Given the description of an element on the screen output the (x, y) to click on. 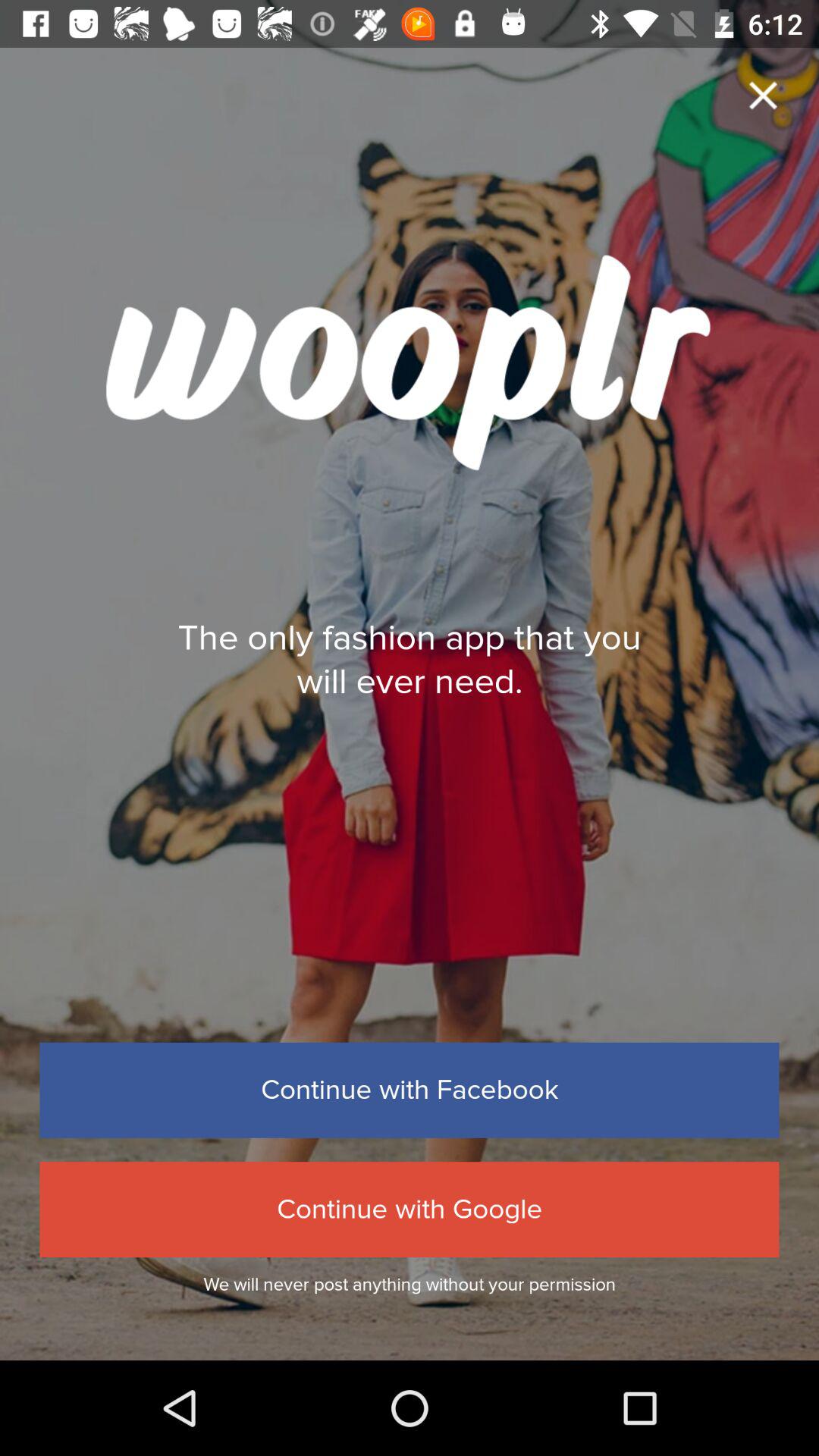
close page (763, 95)
